Given the description of an element on the screen output the (x, y) to click on. 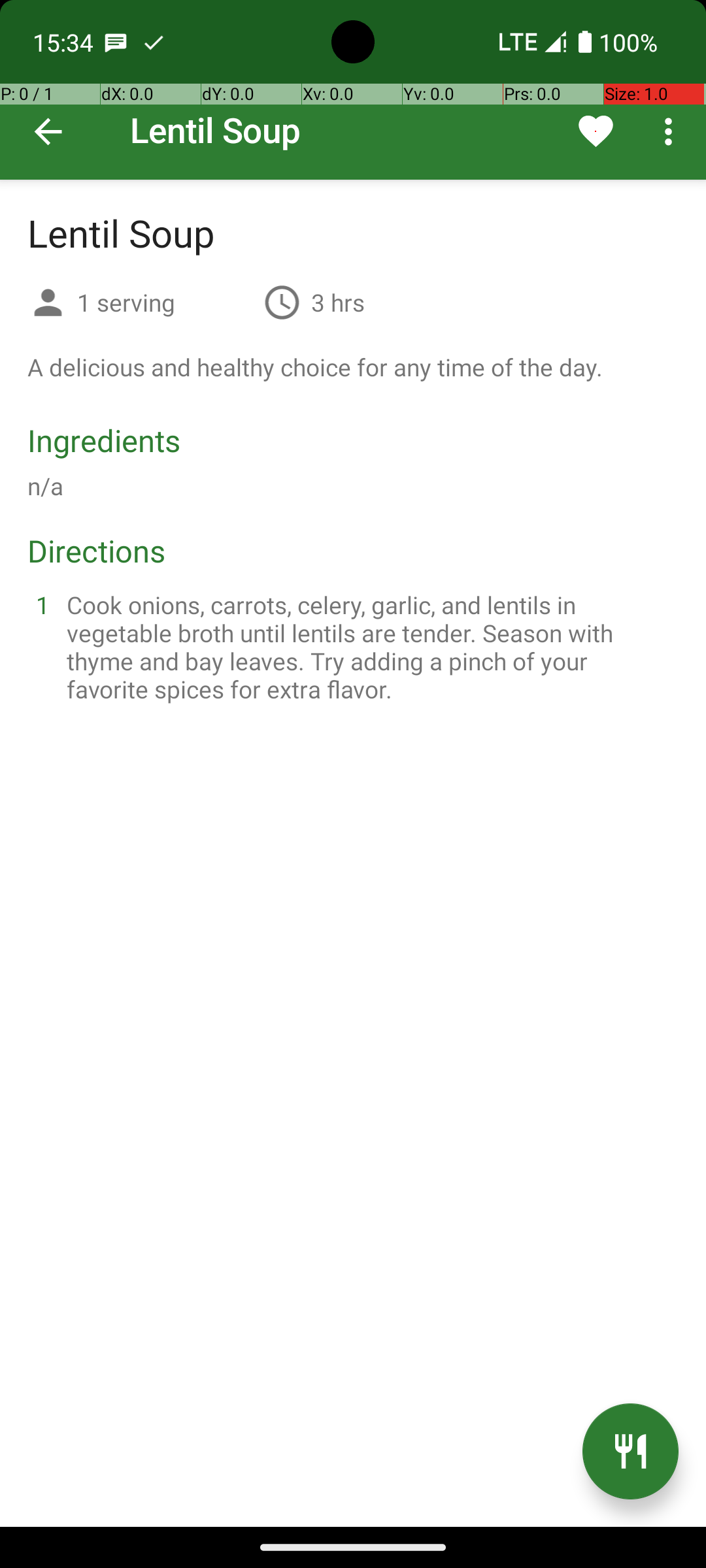
Cook onions, carrots, celery, garlic, and lentils in vegetable broth until lentils are tender. Season with thyme and bay leaves. Try adding a pinch of your favorite spices for extra flavor. Element type: android.widget.TextView (368, 646)
